Given the description of an element on the screen output the (x, y) to click on. 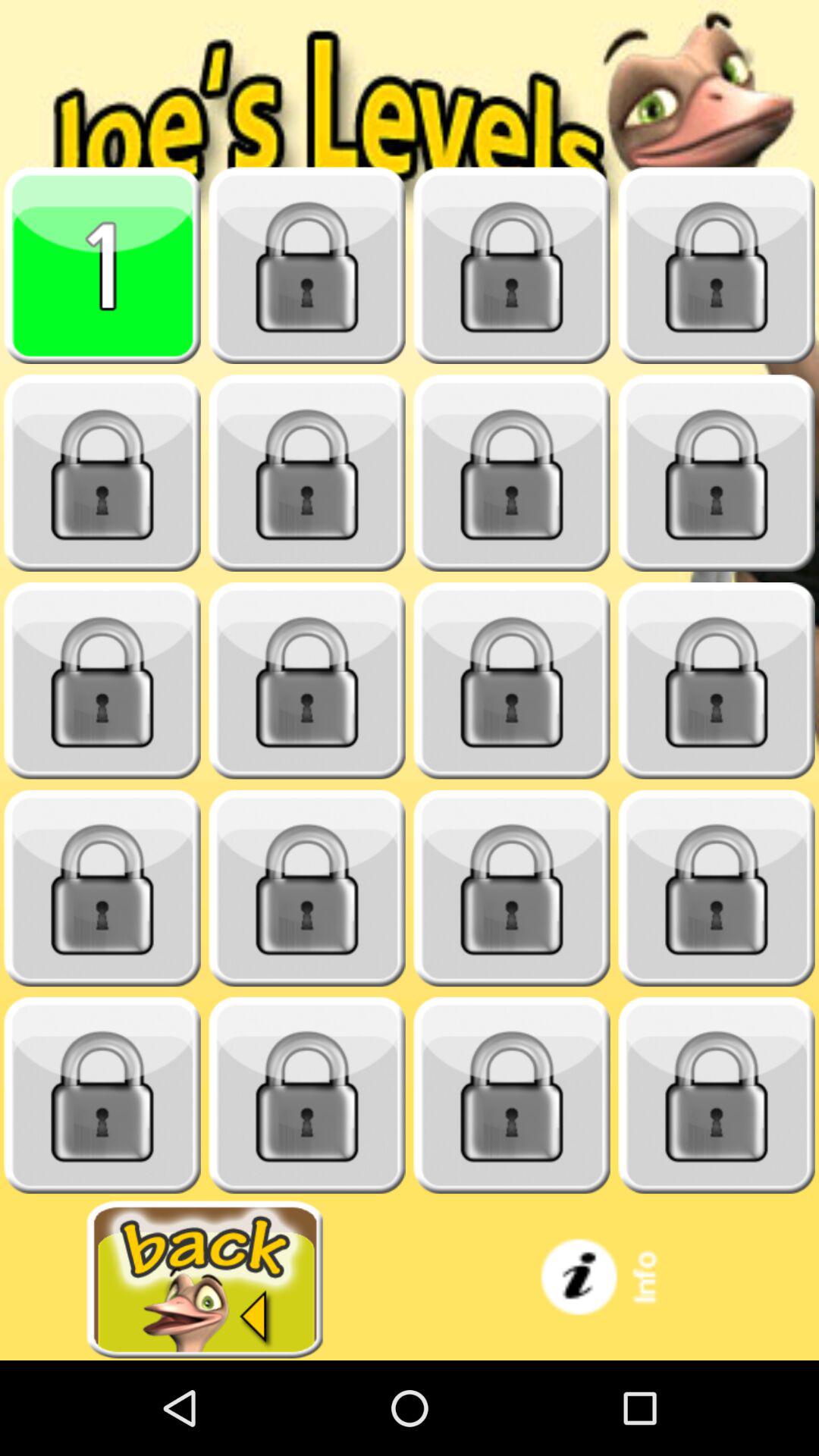
open the lock (511, 680)
